Given the description of an element on the screen output the (x, y) to click on. 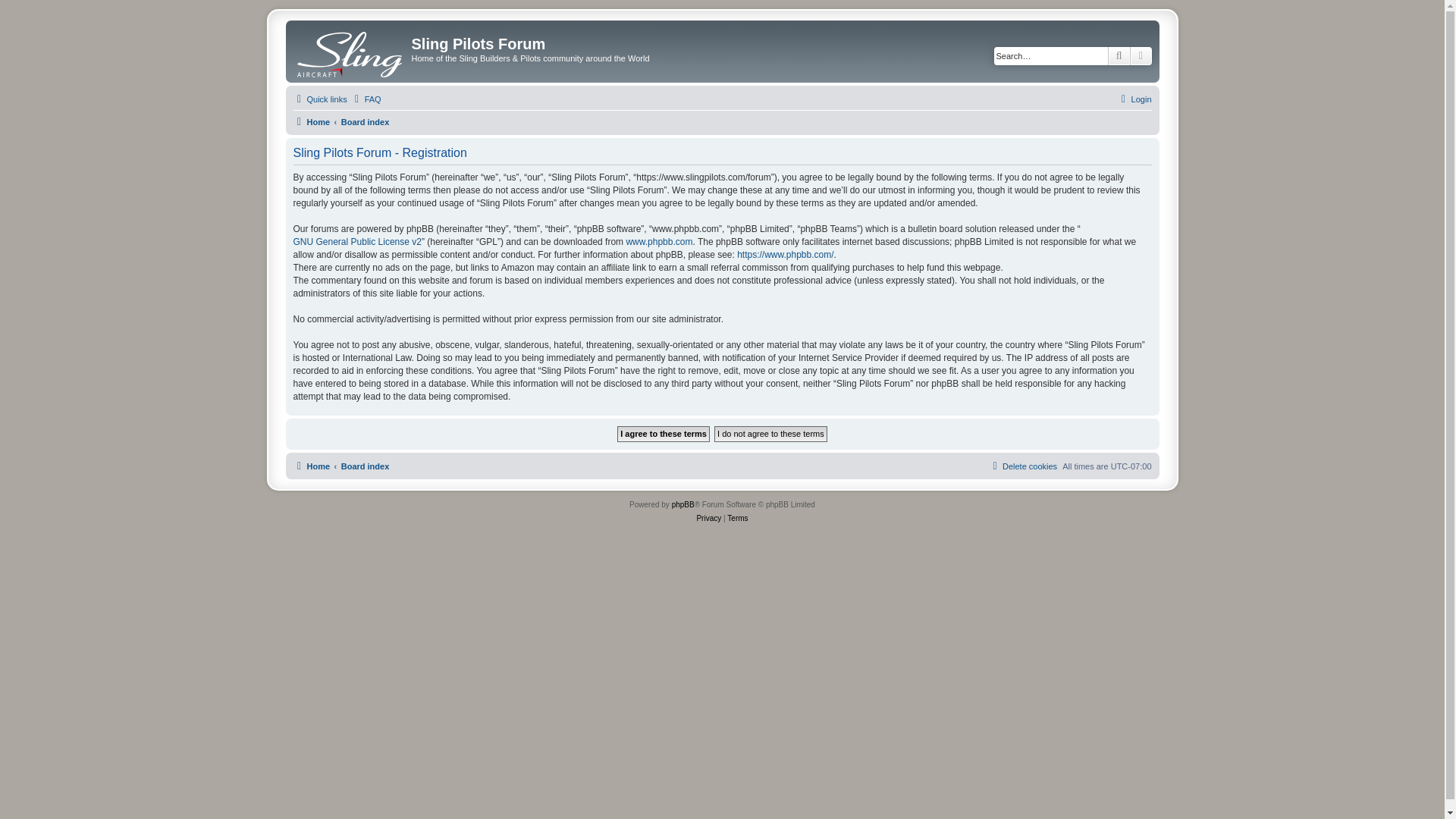
I agree to these terms (663, 433)
phpBB (682, 504)
Privacy (707, 518)
Board index (365, 122)
I do not agree to these terms (770, 433)
Search for keywords (1051, 55)
Search (1119, 55)
Board index (365, 466)
Terms (737, 518)
I do not agree to these terms (770, 433)
FAQ (365, 99)
Quick links (319, 99)
Board index (365, 466)
Advanced search (1141, 55)
Frequently Asked Questions (365, 99)
